Given the description of an element on the screen output the (x, y) to click on. 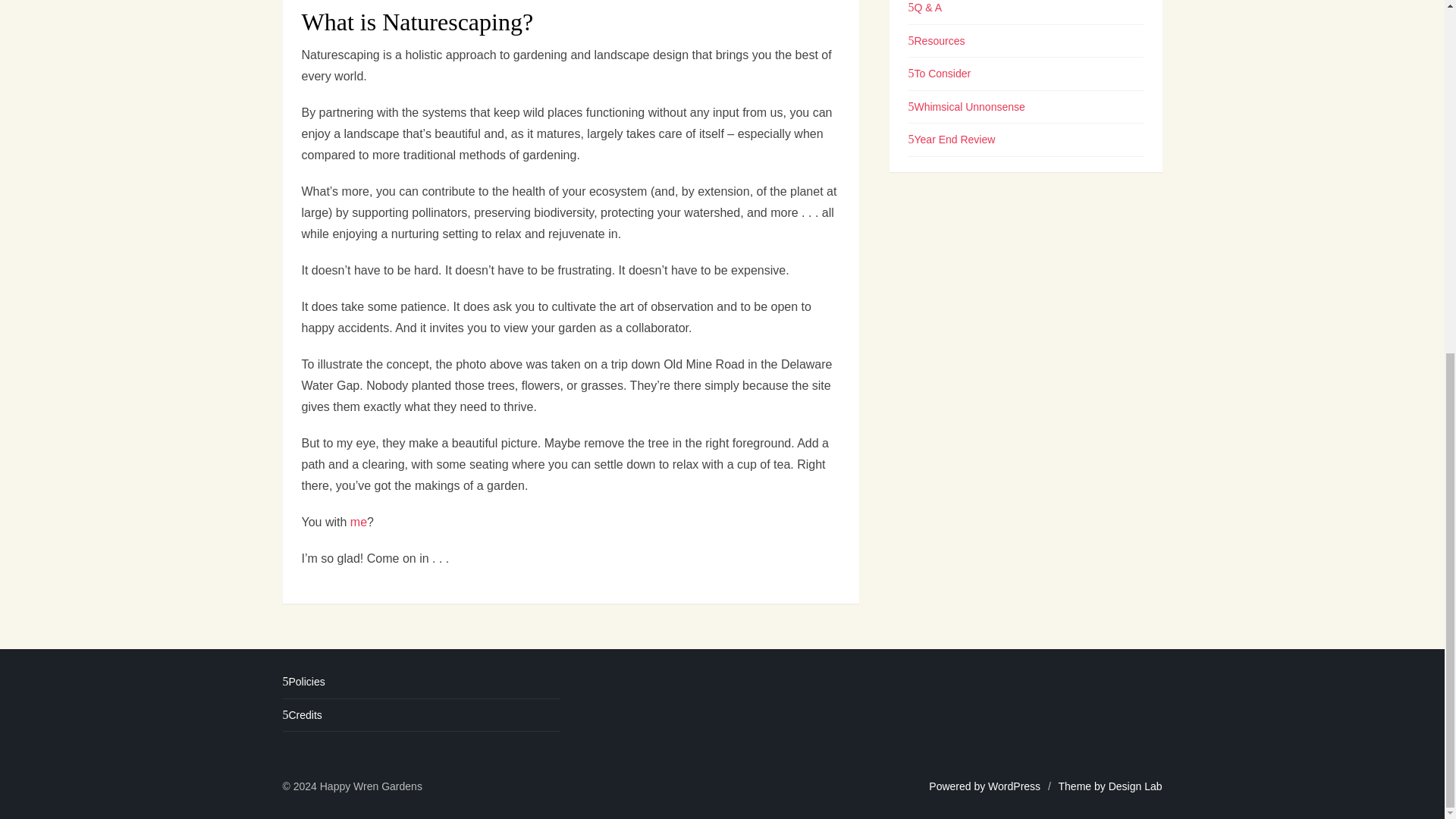
me (358, 521)
Policies (303, 681)
Year End Review (951, 182)
Credits (301, 715)
Theme by Design Lab (1109, 786)
Whimsical Unnonsense (966, 149)
To Consider (939, 115)
Resources (936, 82)
Powered by WordPress (984, 786)
Plant Profiles (942, 17)
